Given the description of an element on the screen output the (x, y) to click on. 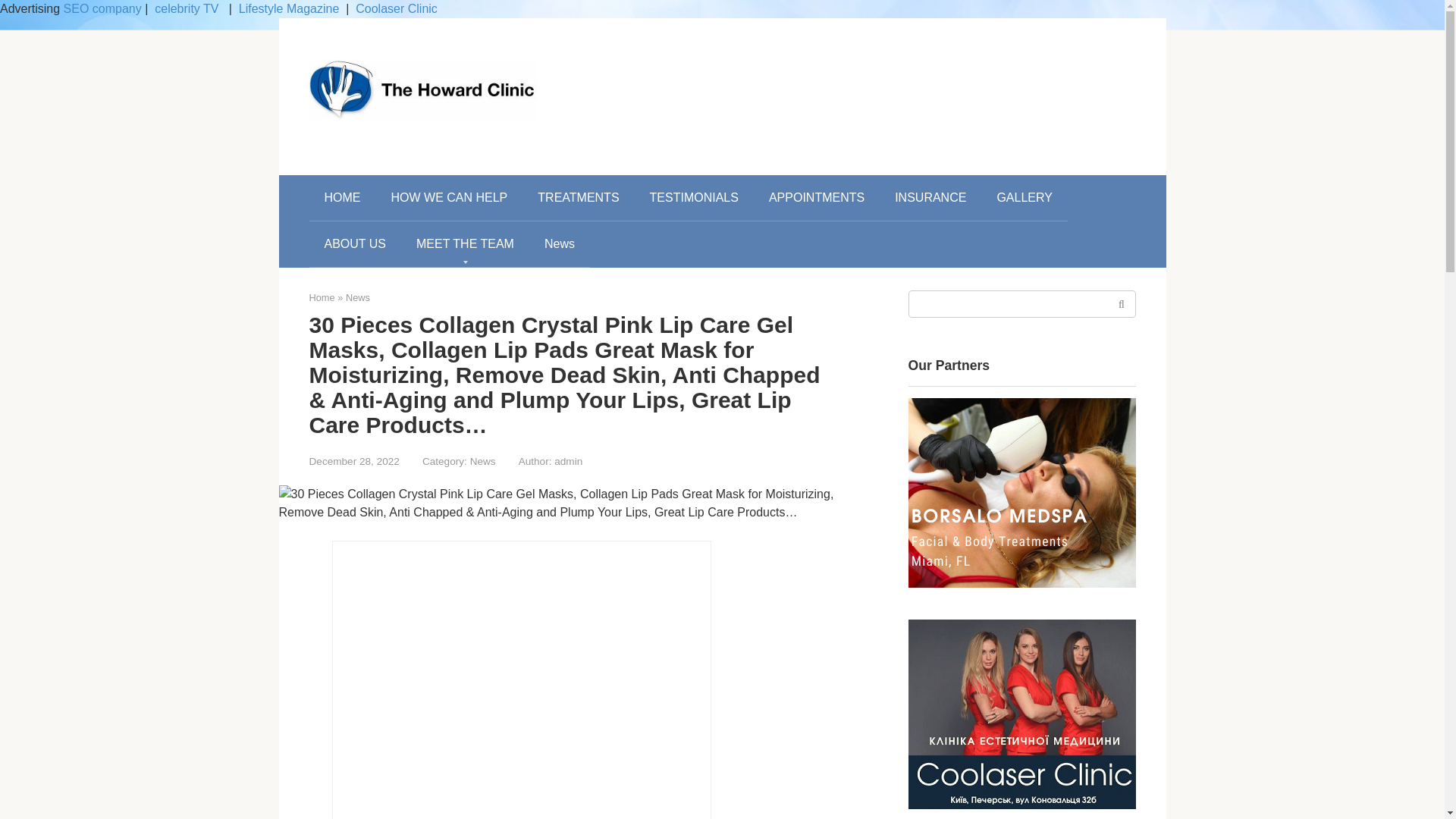
celebrity TV (188, 8)
TESTIMONIALS (694, 197)
Home (321, 297)
SEO company (102, 8)
MEET THE TEAM (465, 243)
News (559, 243)
APPOINTMENTS (816, 197)
Aesthetic Medicine Clinic Kiev (1021, 714)
Lifestyle Magazine (288, 8)
Coolaser Clinic (396, 8)
